Given the description of an element on the screen output the (x, y) to click on. 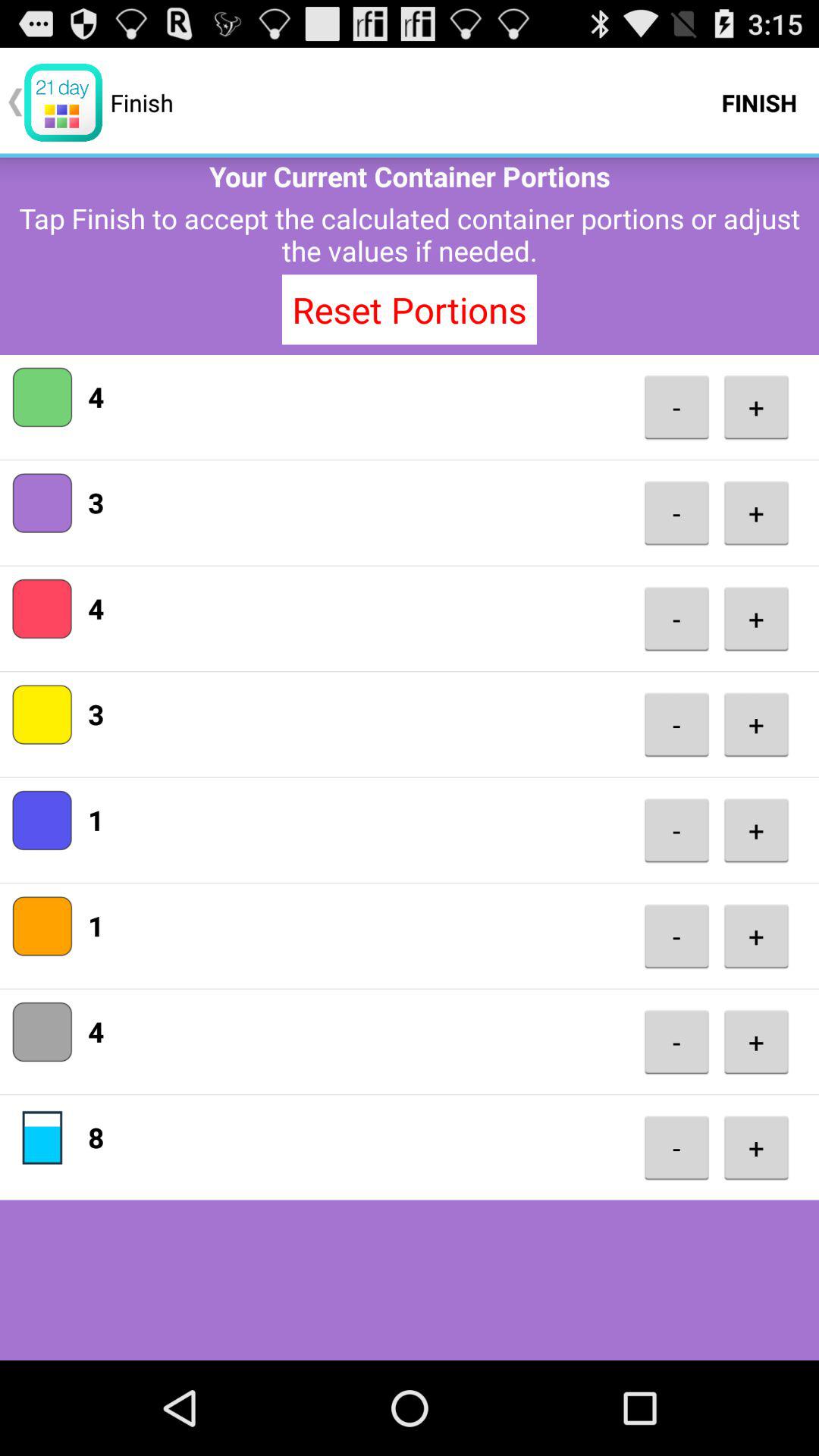
flip to - item (676, 1147)
